Given the description of an element on the screen output the (x, y) to click on. 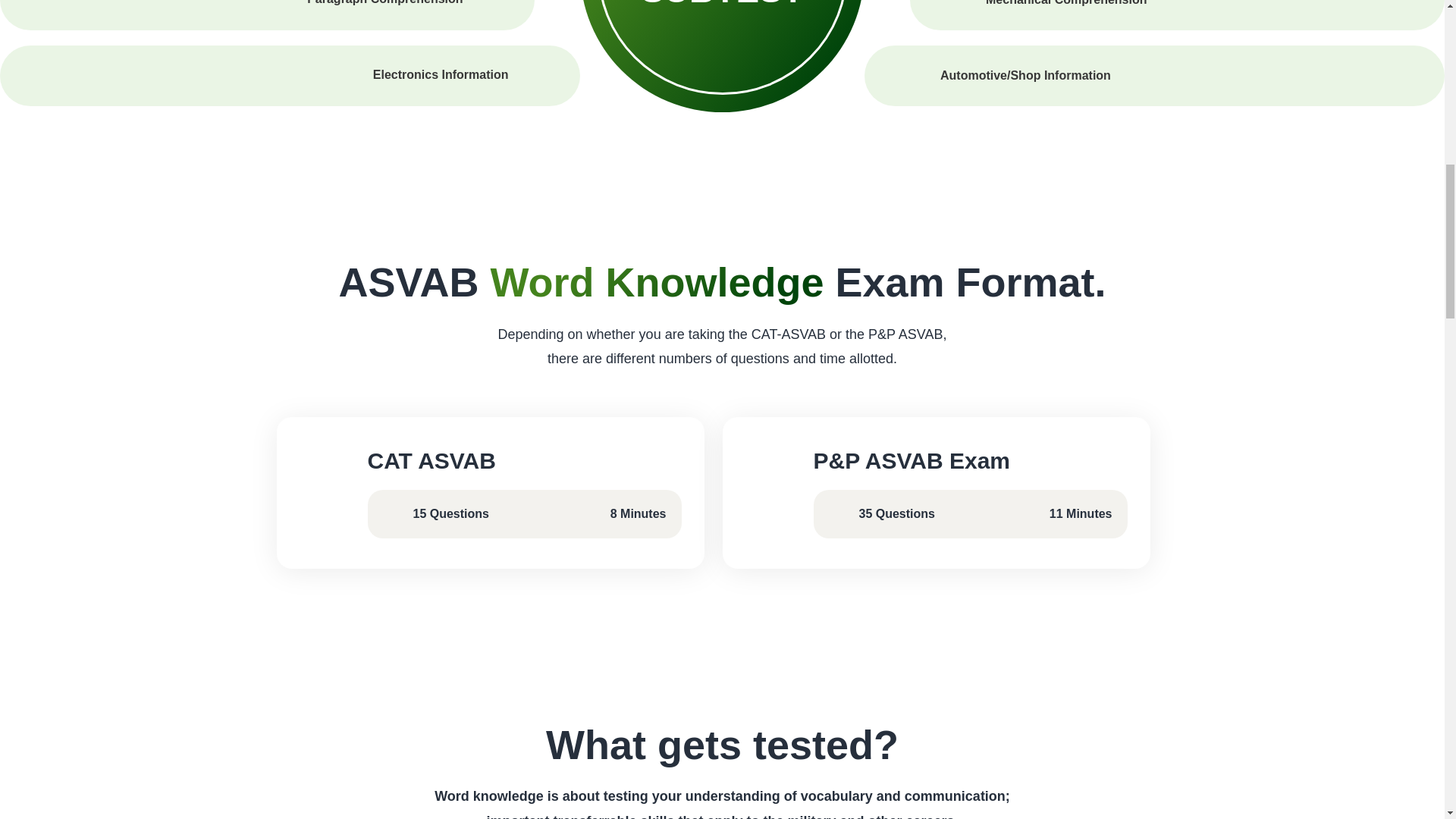
Paragraph Comprehension (385, 2)
Mechanical Comprehension (1066, 4)
Electronics Information (440, 74)
